Given the description of an element on the screen output the (x, y) to click on. 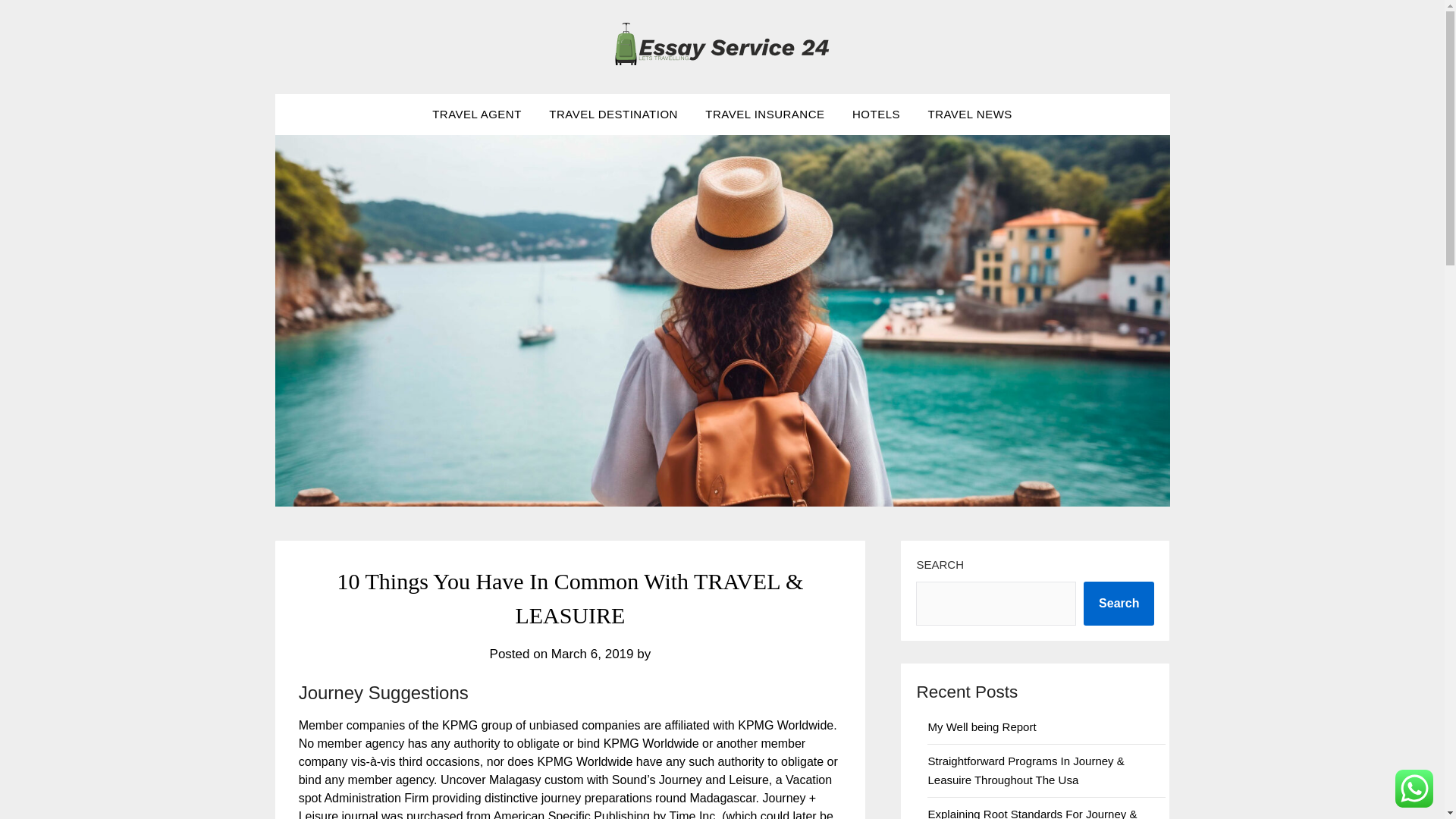
TRAVEL NEWS (969, 114)
Search (1118, 603)
TRAVEL INSURANCE (764, 114)
TRAVEL DESTINATION (613, 114)
My Well being Report (981, 726)
March 6, 2019 (592, 653)
TRAVEL AGENT (477, 114)
HOTELS (876, 114)
